Given the description of an element on the screen output the (x, y) to click on. 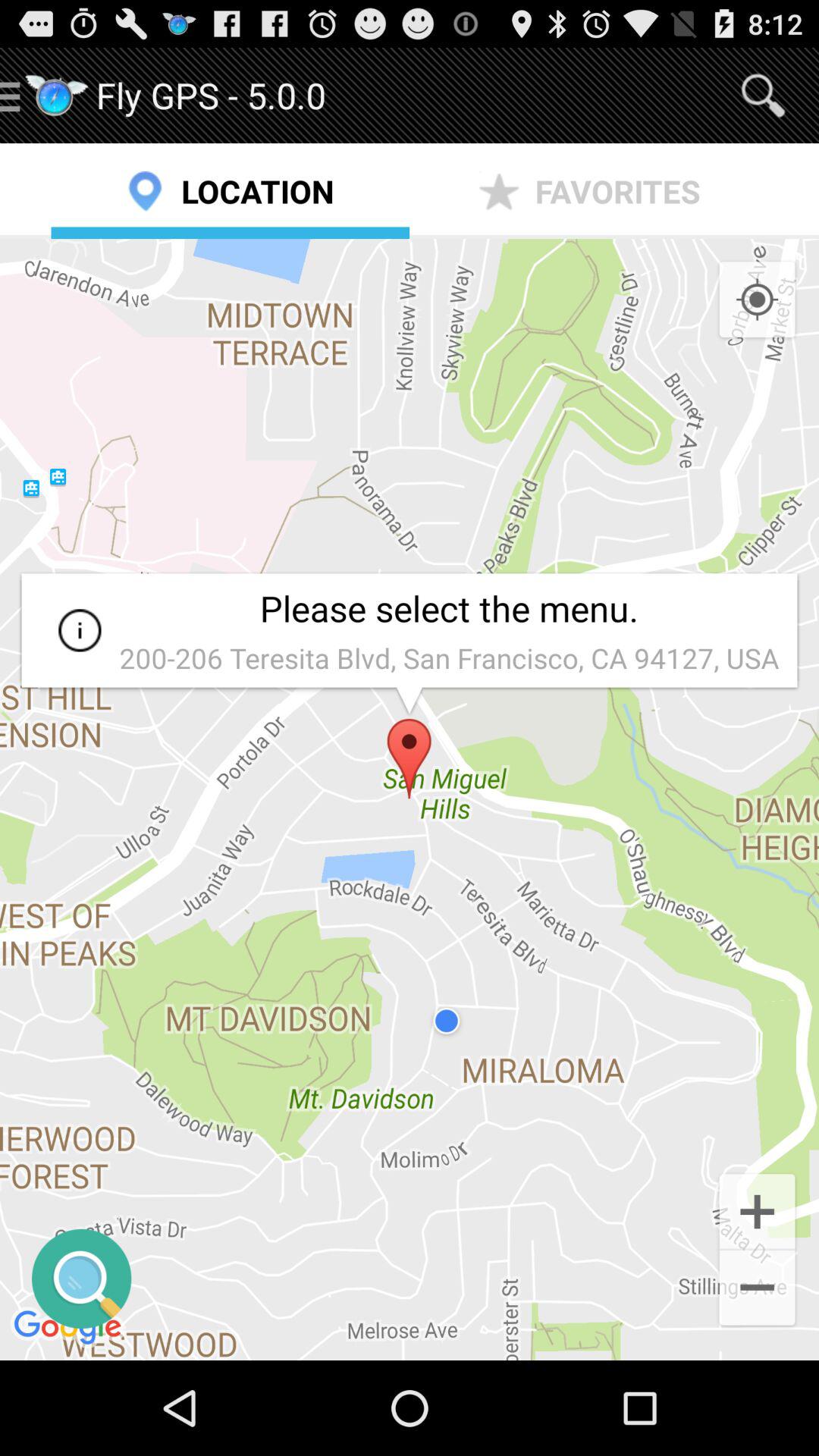
tap the icon at the center (409, 799)
